Given the description of an element on the screen output the (x, y) to click on. 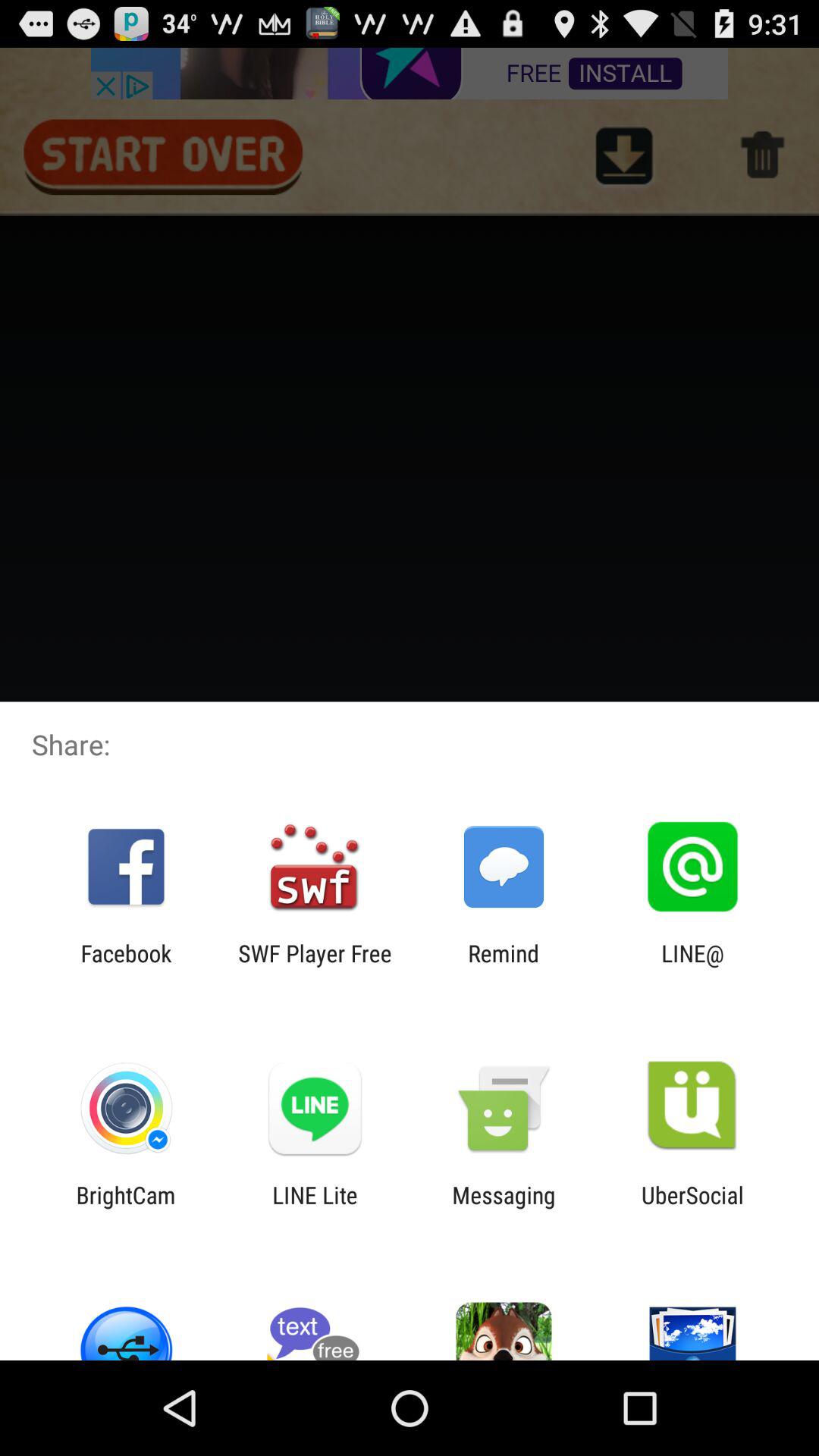
open icon to the right of the line lite item (503, 1208)
